Given the description of an element on the screen output the (x, y) to click on. 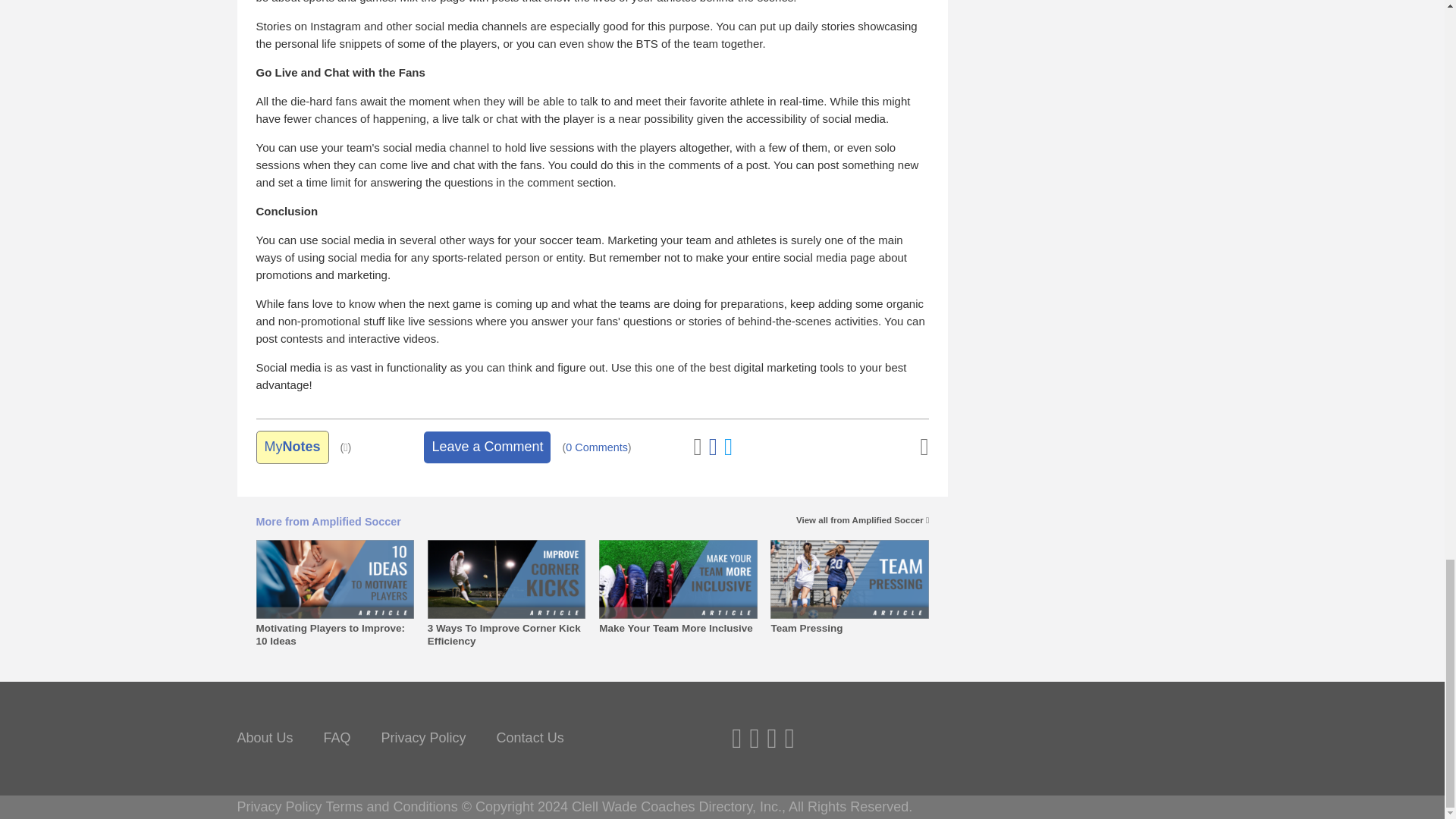
Leave a Comment (486, 447)
MyNotes (292, 447)
Leave a Comment (486, 447)
0 (596, 447)
MyNotes (292, 447)
